Given the description of an element on the screen output the (x, y) to click on. 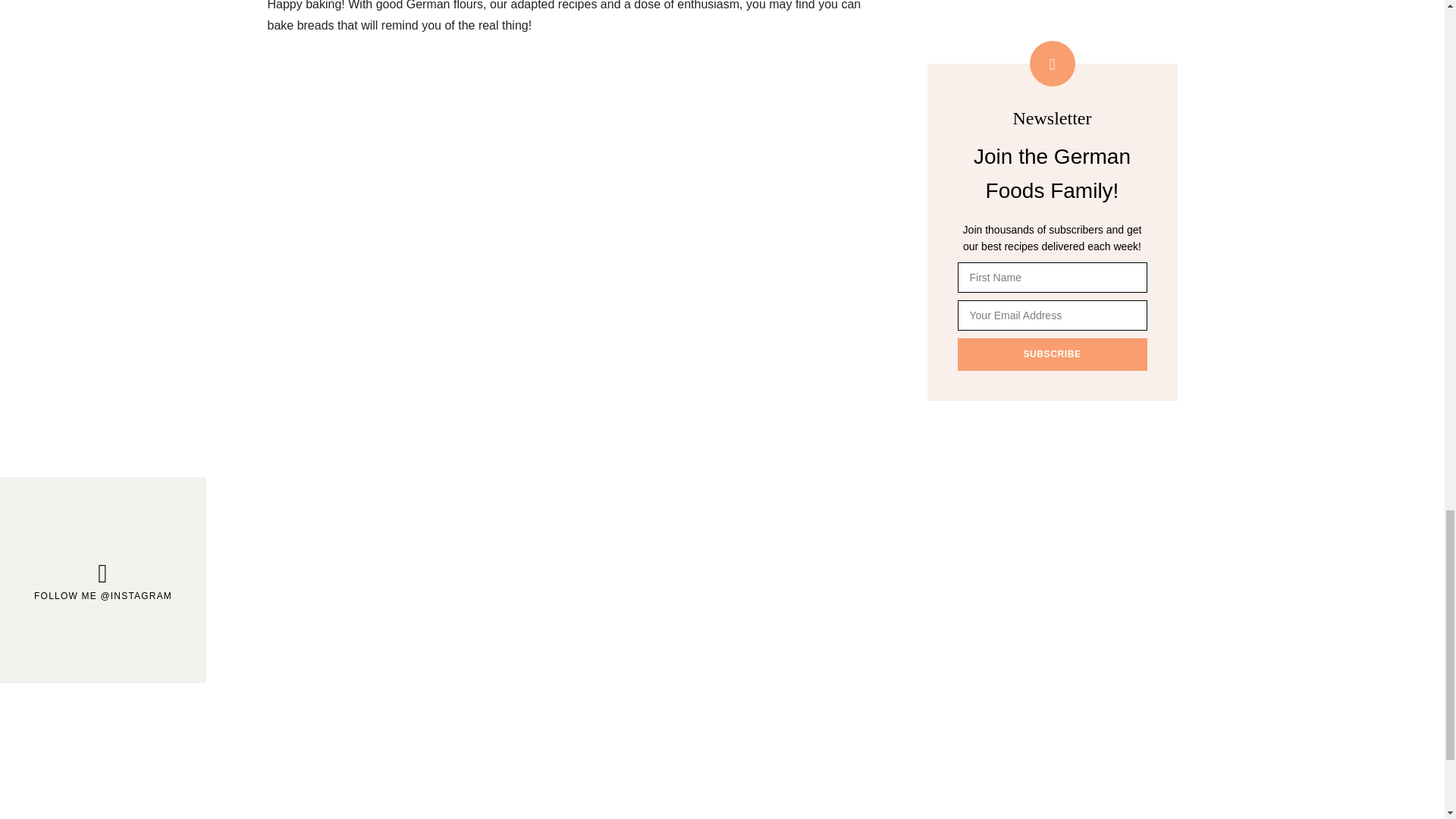
Subscribe (1051, 354)
